Given the description of an element on the screen output the (x, y) to click on. 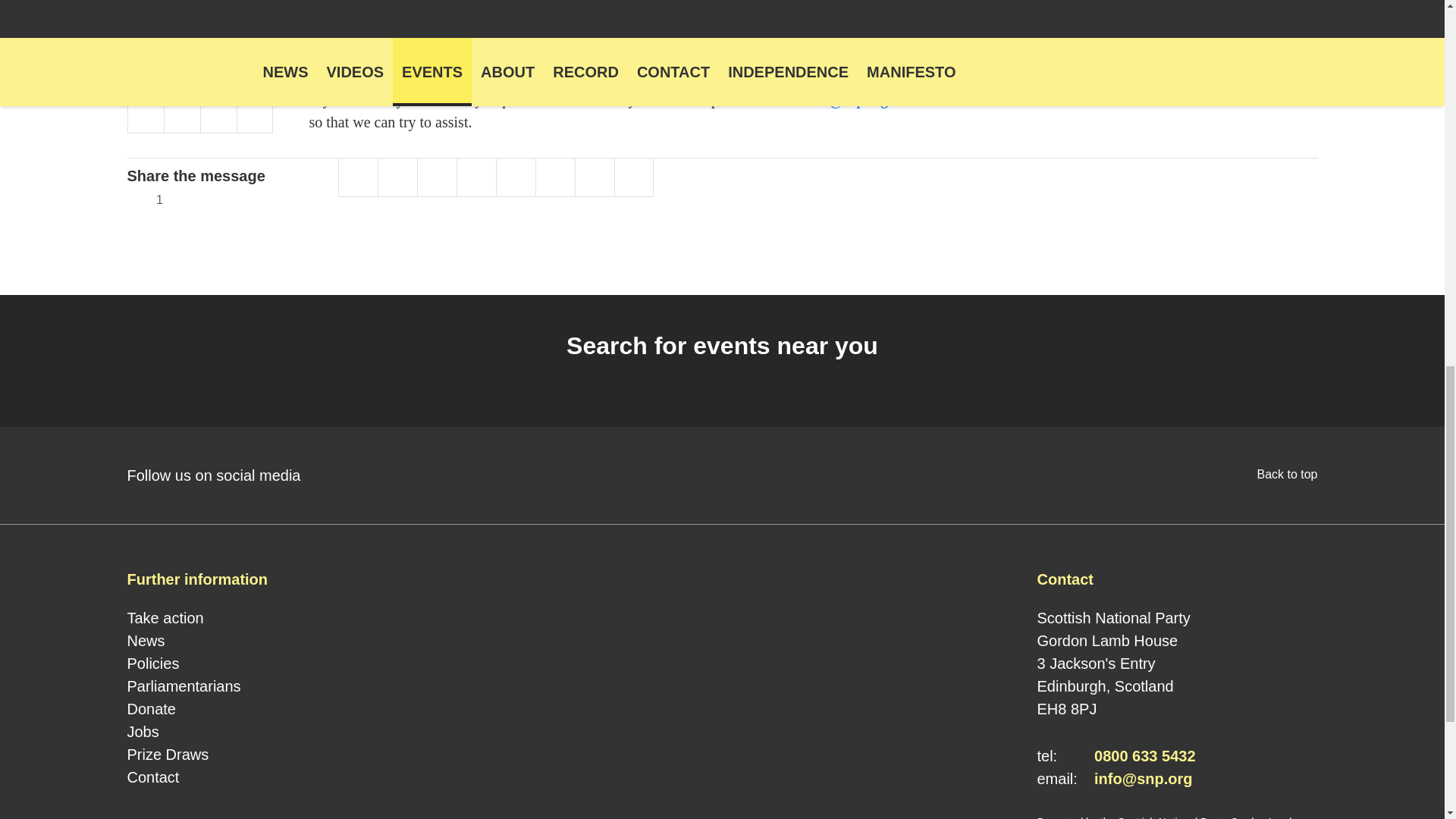
Whatsapp Share (436, 177)
Facebook Share (357, 177)
Twitter Share (396, 177)
